Given the description of an element on the screen output the (x, y) to click on. 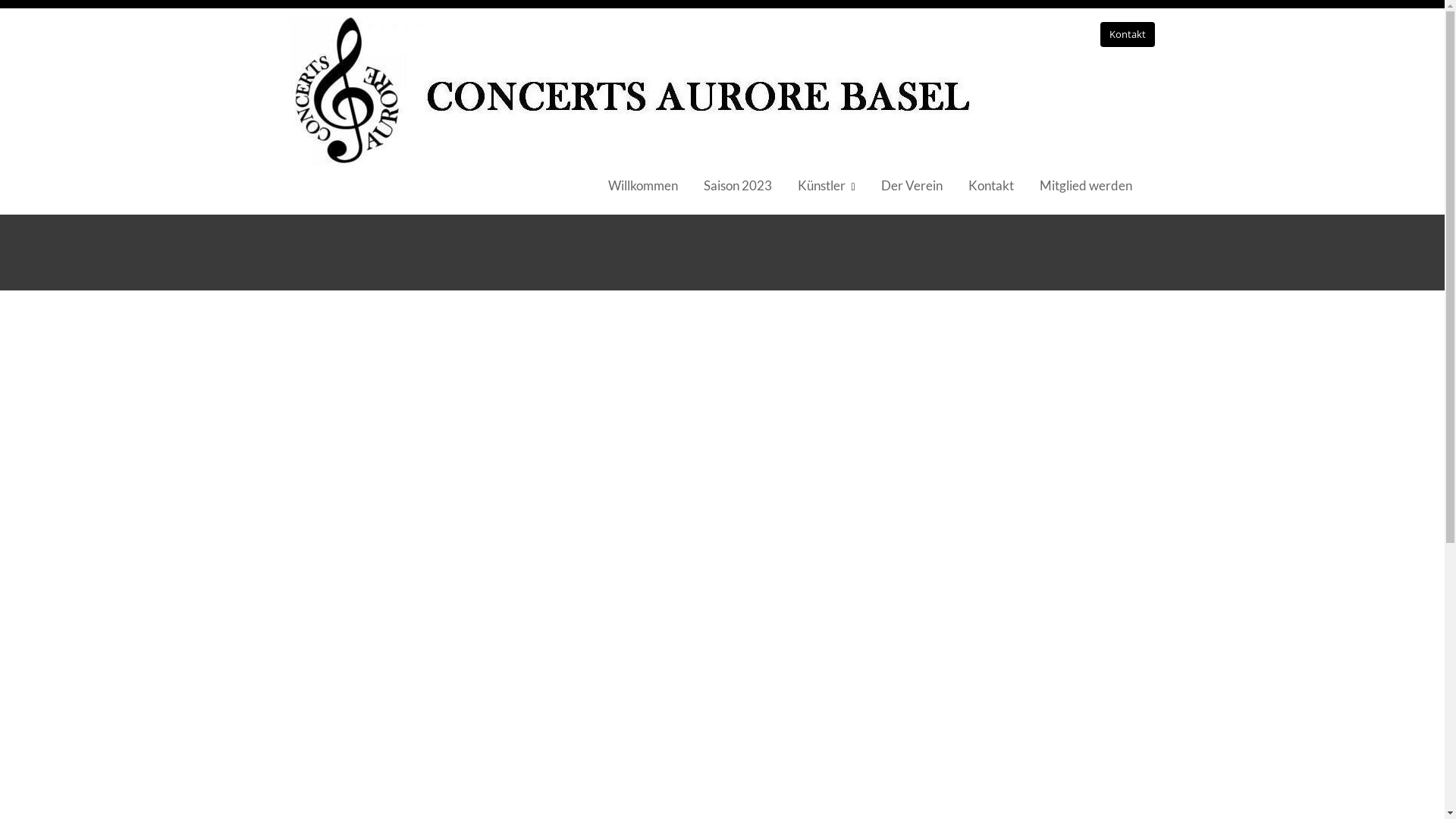
Mitglied werden Element type: text (1085, 185)
Kontakt Element type: text (1126, 34)
Kontakt Element type: text (991, 185)
Willkommen Element type: text (642, 185)
Der Verein Element type: text (911, 185)
Saison 2023 Element type: text (737, 185)
